Given the description of an element on the screen output the (x, y) to click on. 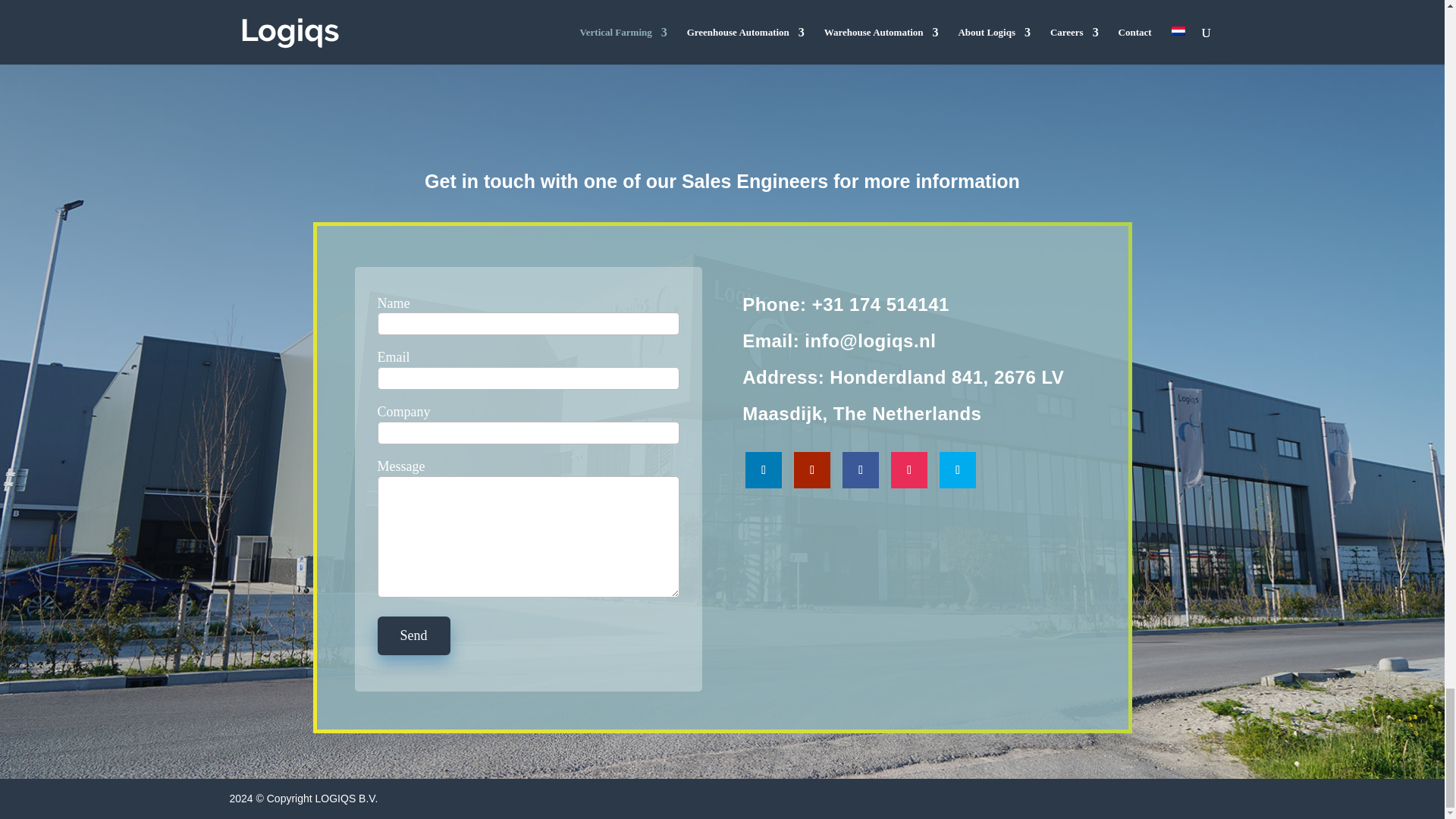
Follow on Youtube (811, 470)
Follow on Instagram (909, 470)
Follow on Twitter (957, 470)
Send (413, 635)
Follow on Facebook (861, 470)
Follow on LinkedIn (763, 470)
